Given the description of an element on the screen output the (x, y) to click on. 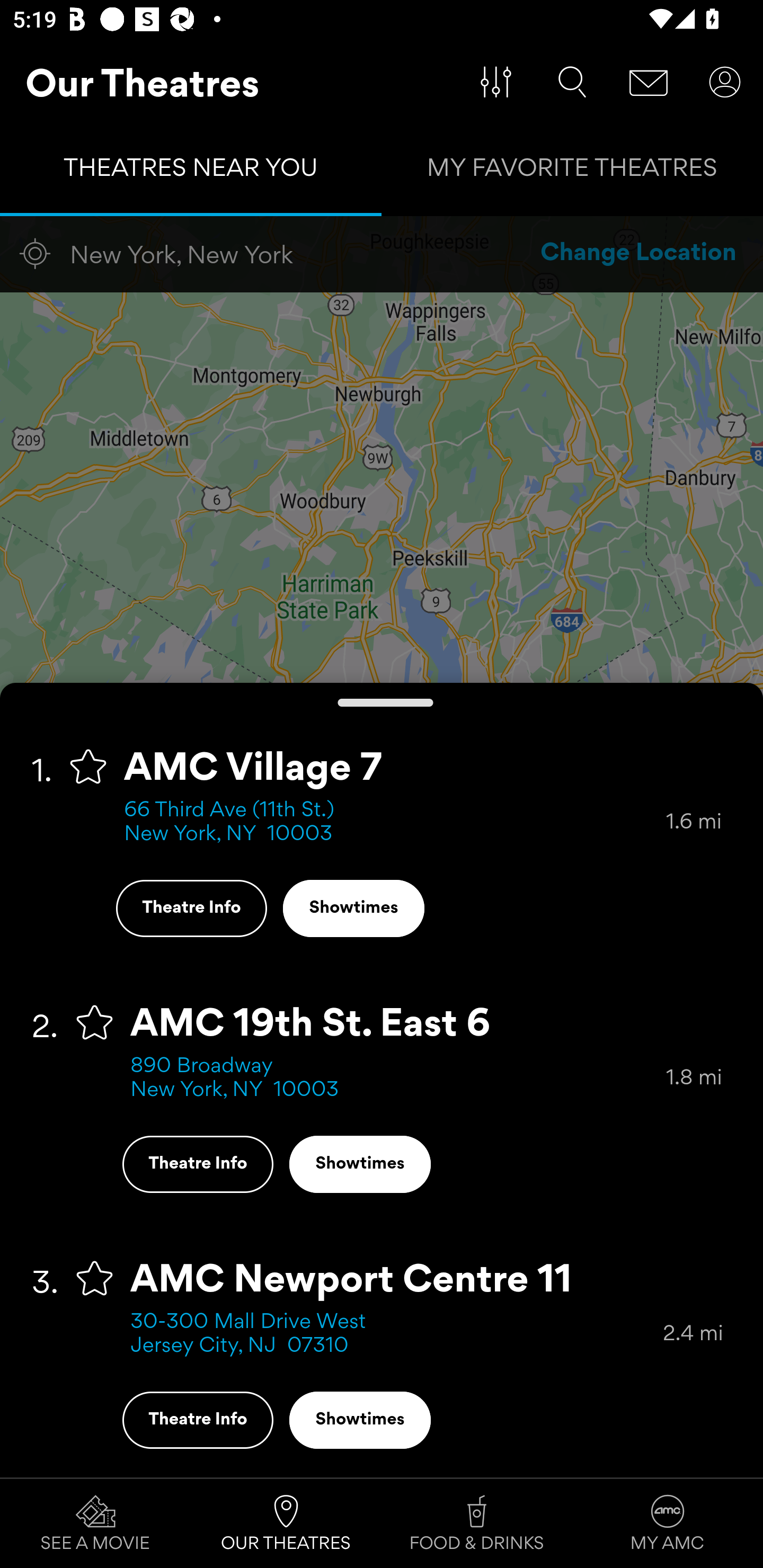
Filter Theatres (495, 82)
Search (572, 82)
Message Center (648, 82)
User Account (724, 82)
THEATRES NEAR YOU
Tab 1 of 2 (190, 171)
MY FAVORITE THEATRES
Tab 2 of 2 (572, 171)
Change Location (639, 253)
66 Third Ave (11th St.)  
New York, NY  10003 (394, 822)
Theatre Info (191, 908)
Showtimes (353, 908)
890 Broadway  
New York, NY  10003 (398, 1078)
Theatre Info (197, 1163)
Showtimes (360, 1163)
30-300 Mall Drive West  
Jersey City, NJ  07310 (396, 1333)
Theatre Info (197, 1419)
Showtimes (360, 1419)
SEE A MOVIE
Tab 1 of 4 (95, 1523)
OUR THEATRES
Tab 2 of 4 (285, 1523)
FOOD & DRINKS
Tab 3 of 4 (476, 1523)
MY AMC
Tab 4 of 4 (667, 1523)
